Given the description of an element on the screen output the (x, y) to click on. 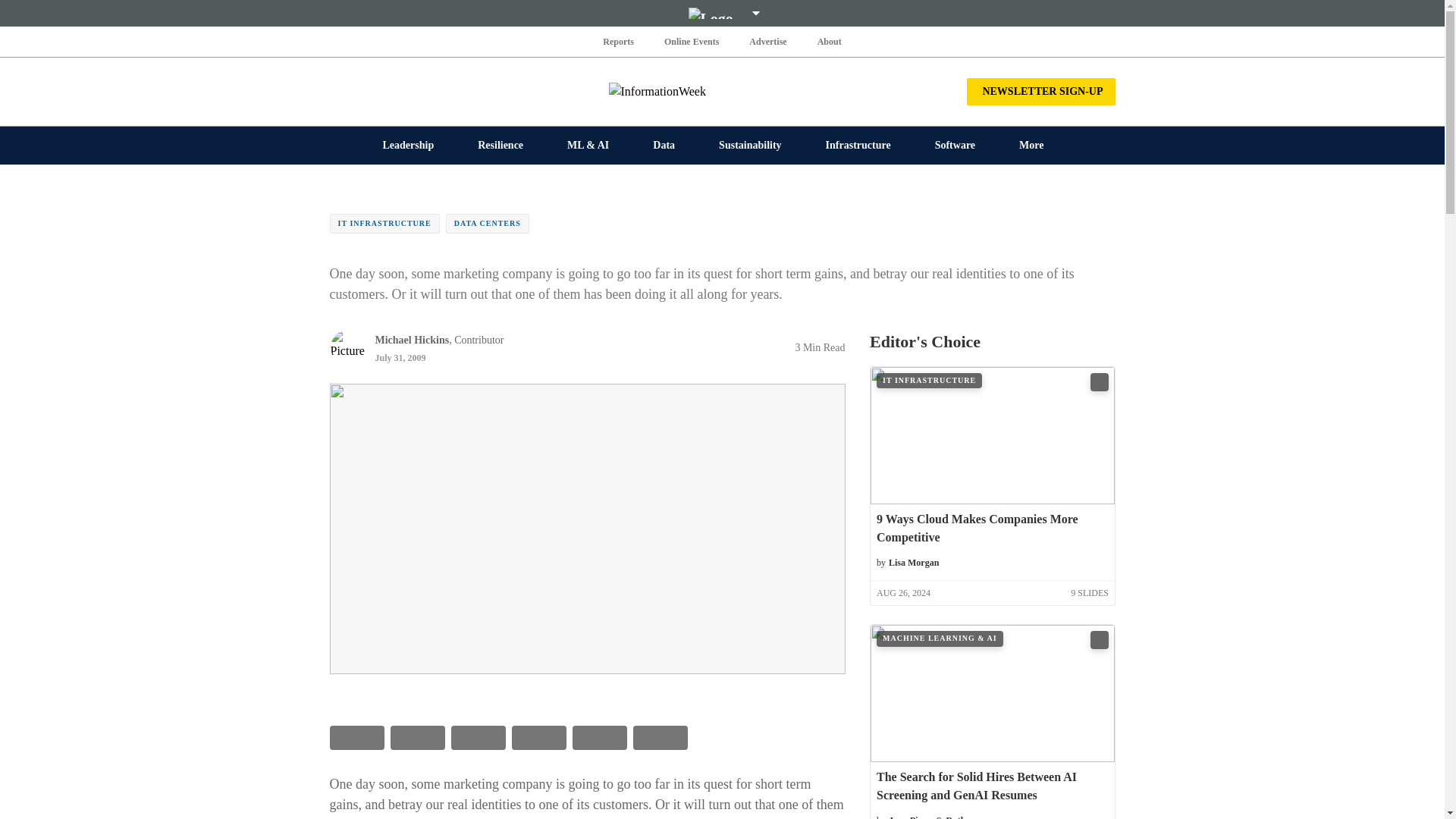
Online Events (691, 41)
Reports (618, 41)
Picture of Michael Hickins (347, 347)
About (828, 41)
InformationWeek (721, 91)
Advertise (767, 41)
NEWSLETTER SIGN-UP (1040, 90)
